Given the description of an element on the screen output the (x, y) to click on. 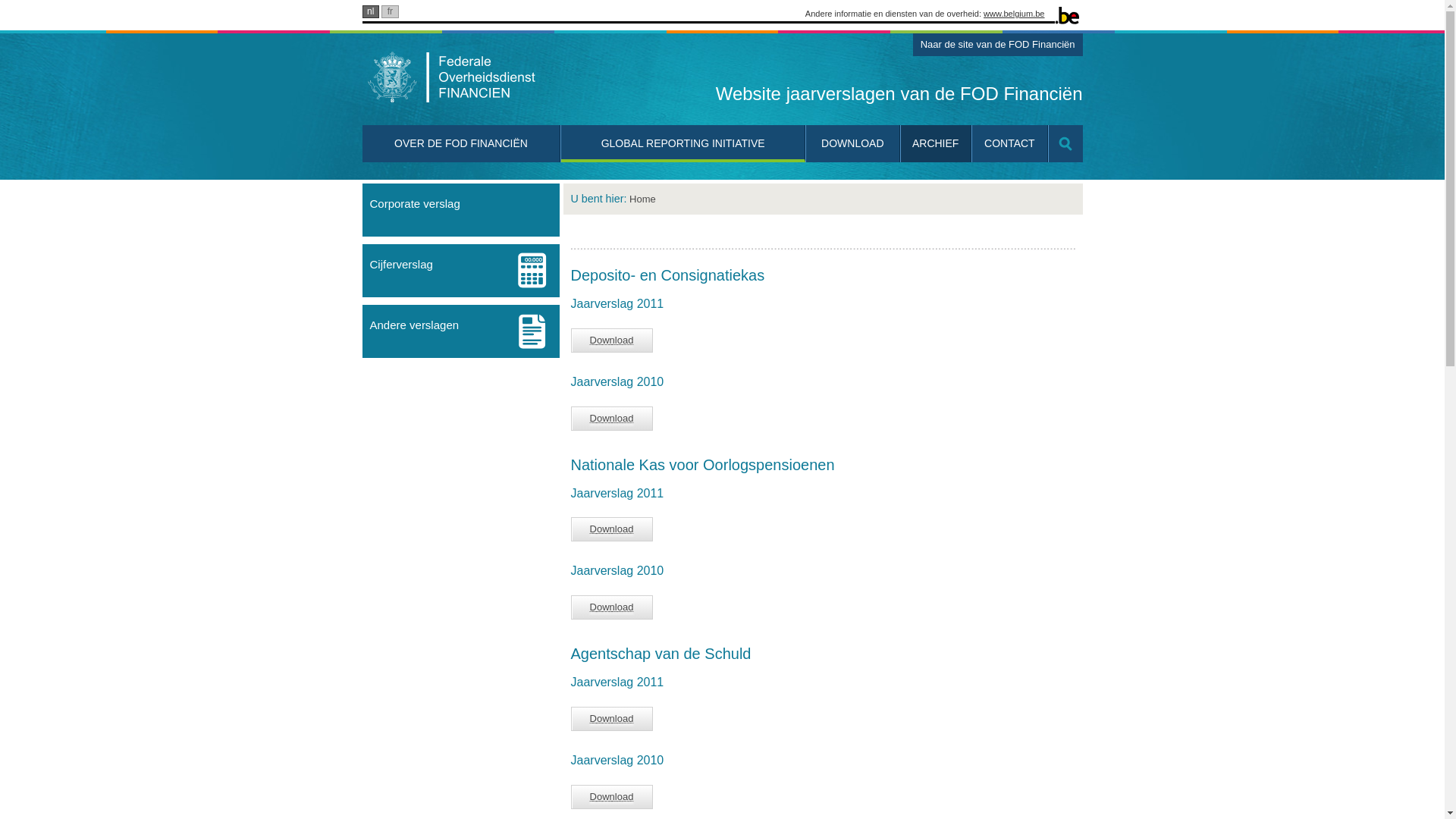
nl Element type: text (370, 10)
fr Element type: text (389, 10)
Andere verslagen Element type: text (460, 330)
www.belgium.be Element type: text (1013, 13)
Download Element type: text (611, 796)
Cijferverslag Element type: text (460, 270)
DOWNLOAD Element type: text (853, 143)
CONTACT Element type: text (1010, 143)
Download Element type: text (611, 718)
SEARCH Element type: text (1065, 143)
GLOBAL REPORTING INITIATIVE Element type: text (682, 143)
Download Element type: text (611, 528)
Download Element type: text (611, 339)
Download Element type: text (611, 606)
Download Element type: text (611, 417)
Corporate verslag Element type: text (460, 209)
ARCHIEF Element type: text (935, 143)
Jaarverslag Element type: text (475, 78)
